Given the description of an element on the screen output the (x, y) to click on. 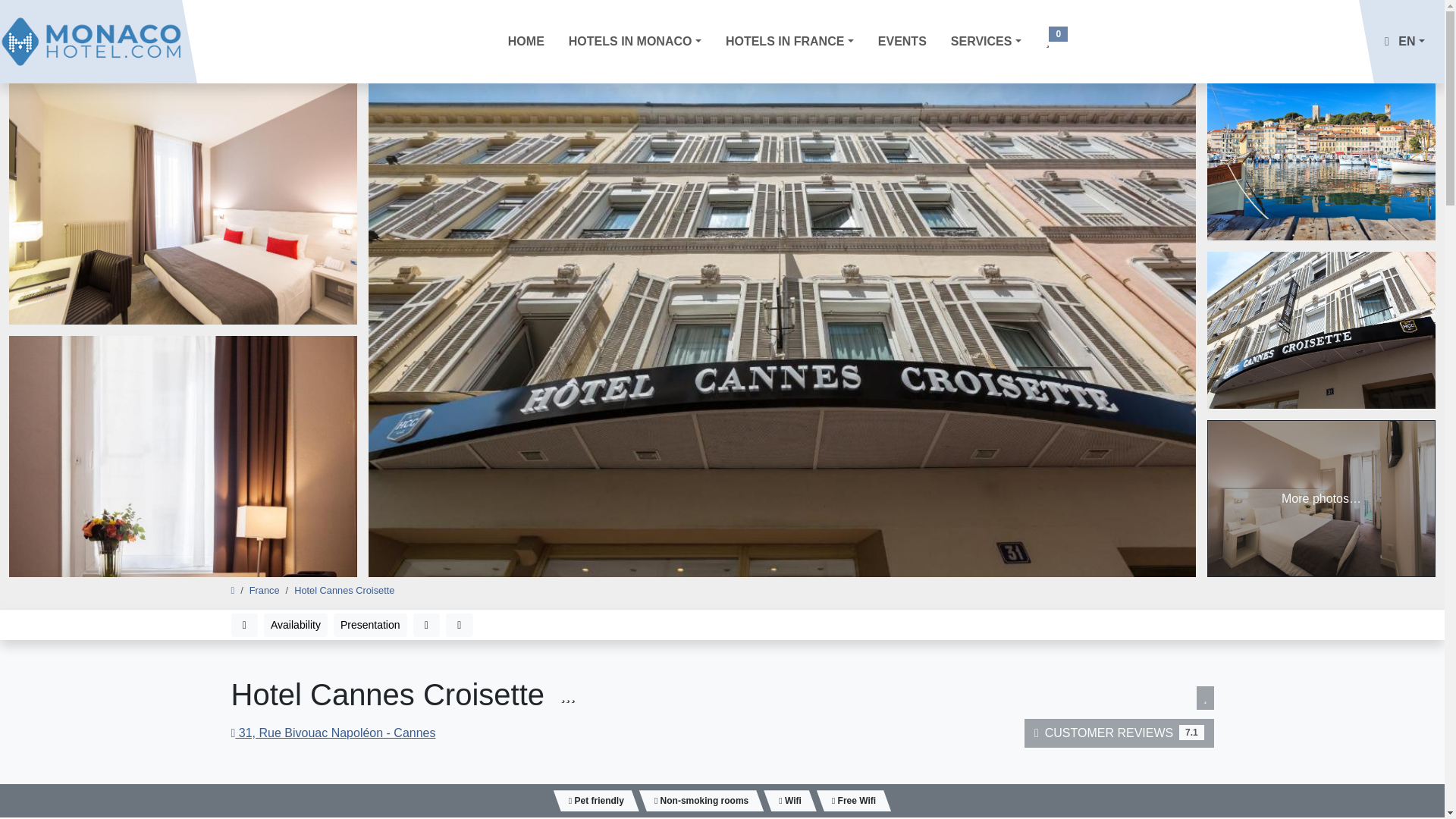
Information (459, 625)
EVENTS (902, 41)
3-STARS HOTELS (642, 19)
YACHT CHARTER (958, 144)
HOTELS IN MONACO (634, 41)
HELICOPTERS (958, 69)
2-STARS HOTELS (642, 60)
HOTELS IN FRANCE (789, 41)
Map (425, 625)
0 (1056, 41)
HOME (526, 41)
EN (1402, 41)
Score based on 790 reviews (1191, 732)
USEFUL LINKS (958, 194)
CAR RENTAL (958, 94)
